Given the description of an element on the screen output the (x, y) to click on. 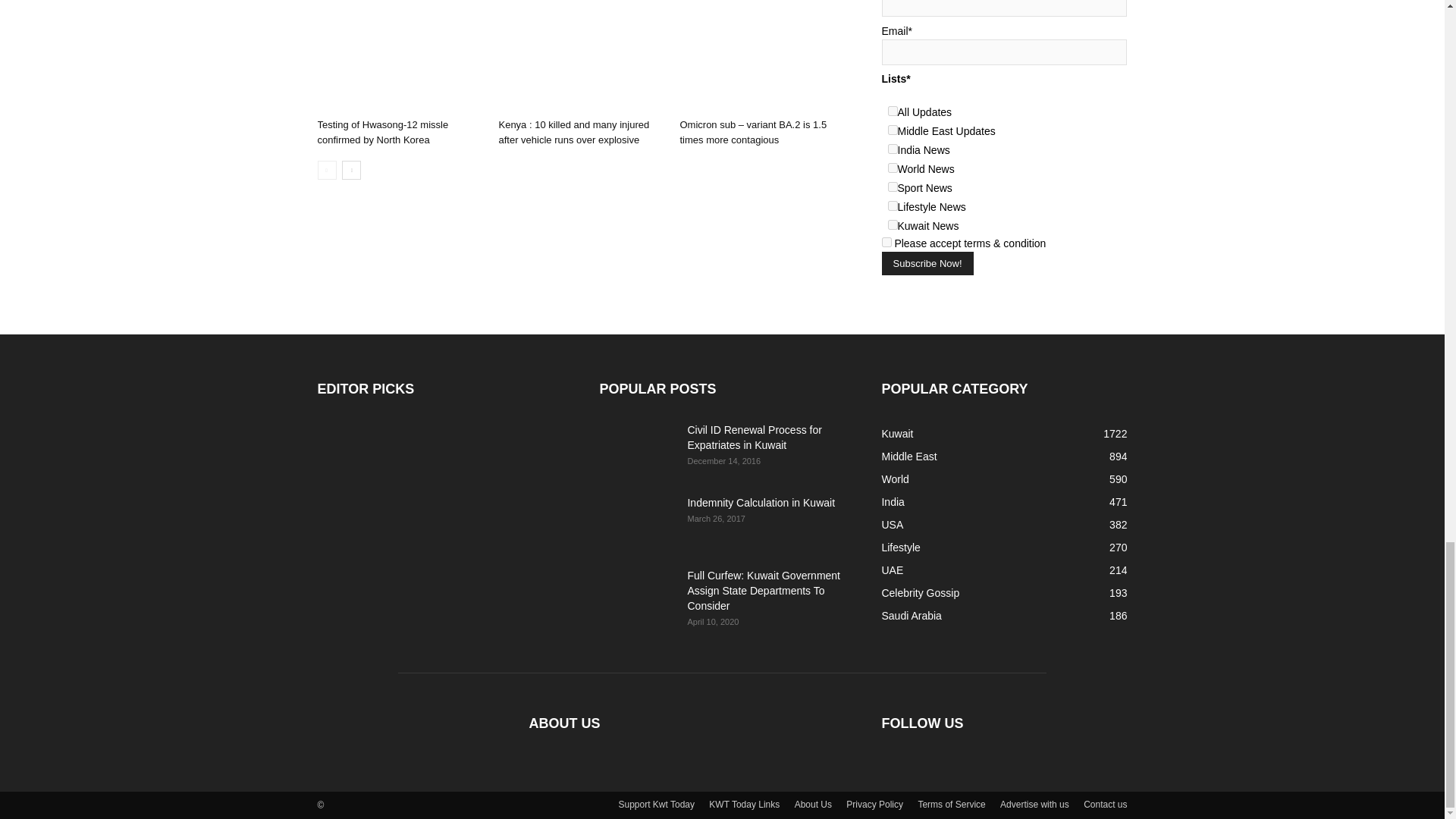
942df8fdc48c (891, 205)
08ce0a49a90a (891, 167)
true (885, 242)
3a9fc9399761 (891, 130)
Subscribe Now! (926, 263)
b1e34fa8c2f4 (891, 225)
410c210f5f01 (891, 186)
e48673210044 (891, 148)
58deda53d8f5 (891, 111)
